Given the description of an element on the screen output the (x, y) to click on. 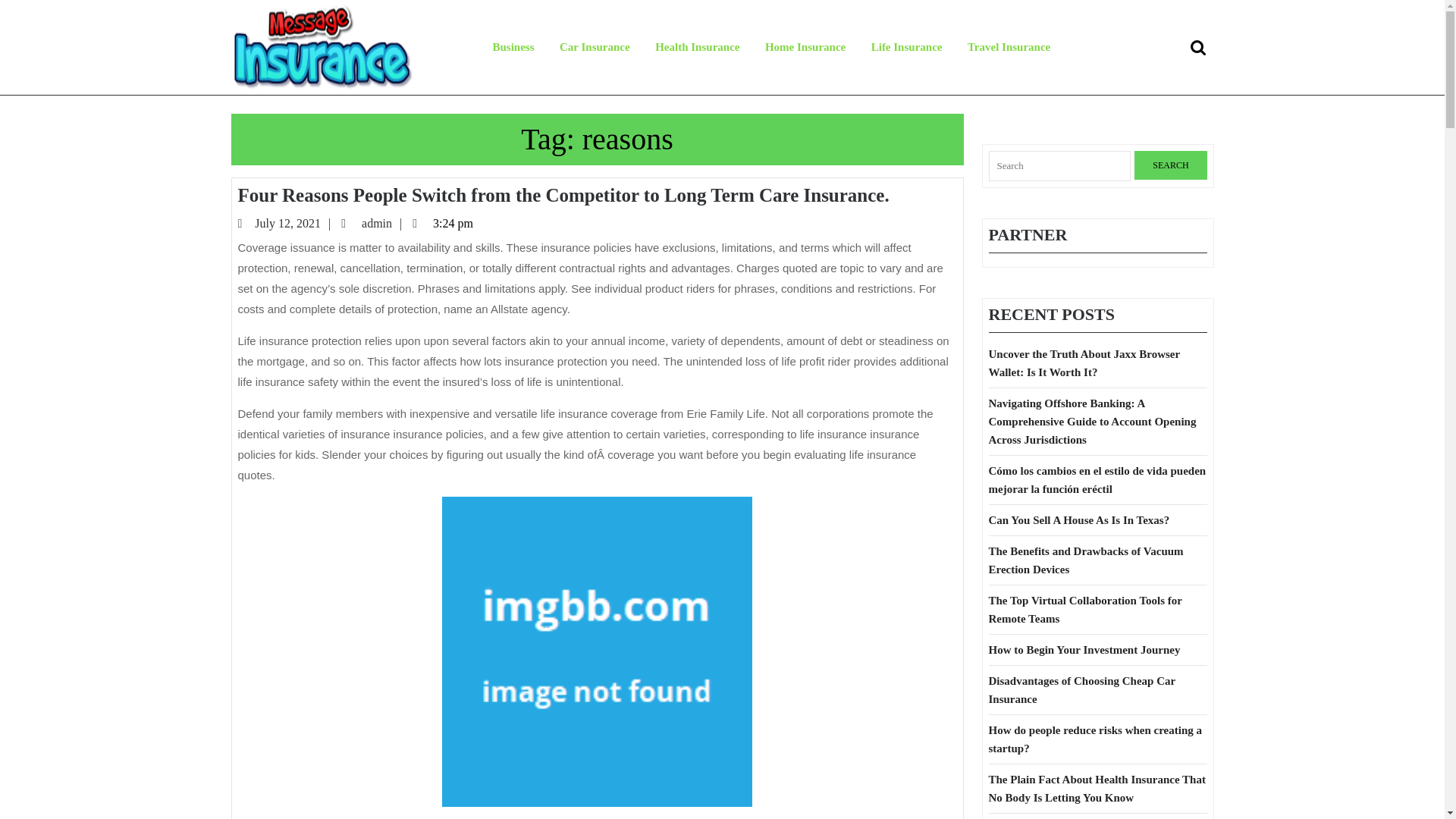
Health Insurance (697, 47)
Search (1170, 164)
Search (294, 223)
Search (1200, 46)
Home Insurance (1200, 46)
Business (805, 47)
Car Insurance (512, 47)
Search (382, 223)
